Given the description of an element on the screen output the (x, y) to click on. 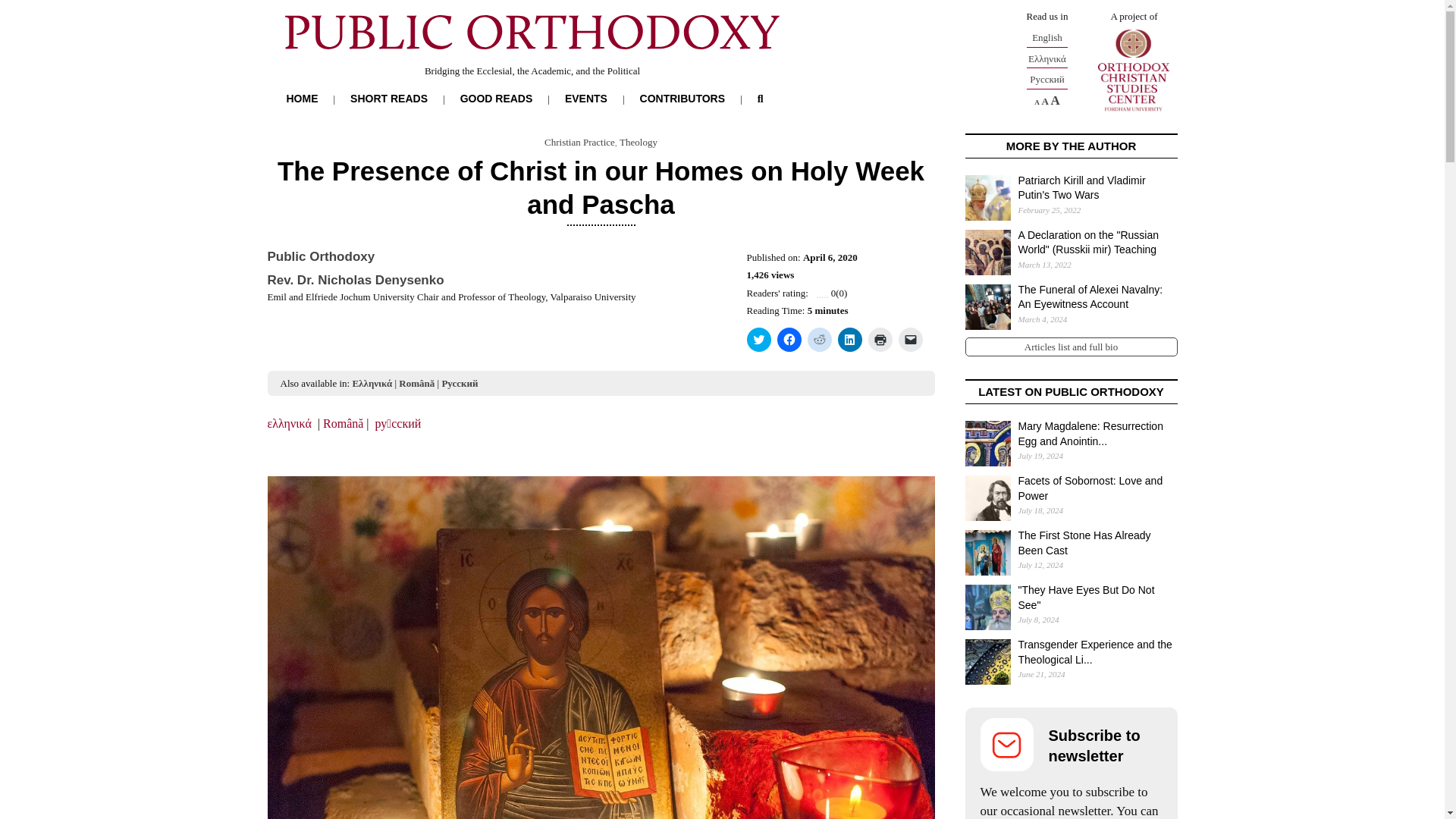
Click to print (879, 339)
Click to share on LinkedIn (849, 339)
CONTRIBUTORS (682, 98)
EVENTS (585, 98)
Click to share on Twitter (757, 339)
English (1047, 37)
Click to share on Facebook (788, 339)
GOOD READS (496, 98)
Public Orthodoxy (320, 256)
Orthodox Christian Studies Center of Fordham University (1133, 70)
Public Orthodoxy (320, 256)
Rev. Dr. Nicholas Denysenko (355, 279)
Public Orthodoxy (531, 60)
Click to share on Reddit (818, 339)
SHORT READS (389, 98)
